Given the description of an element on the screen output the (x, y) to click on. 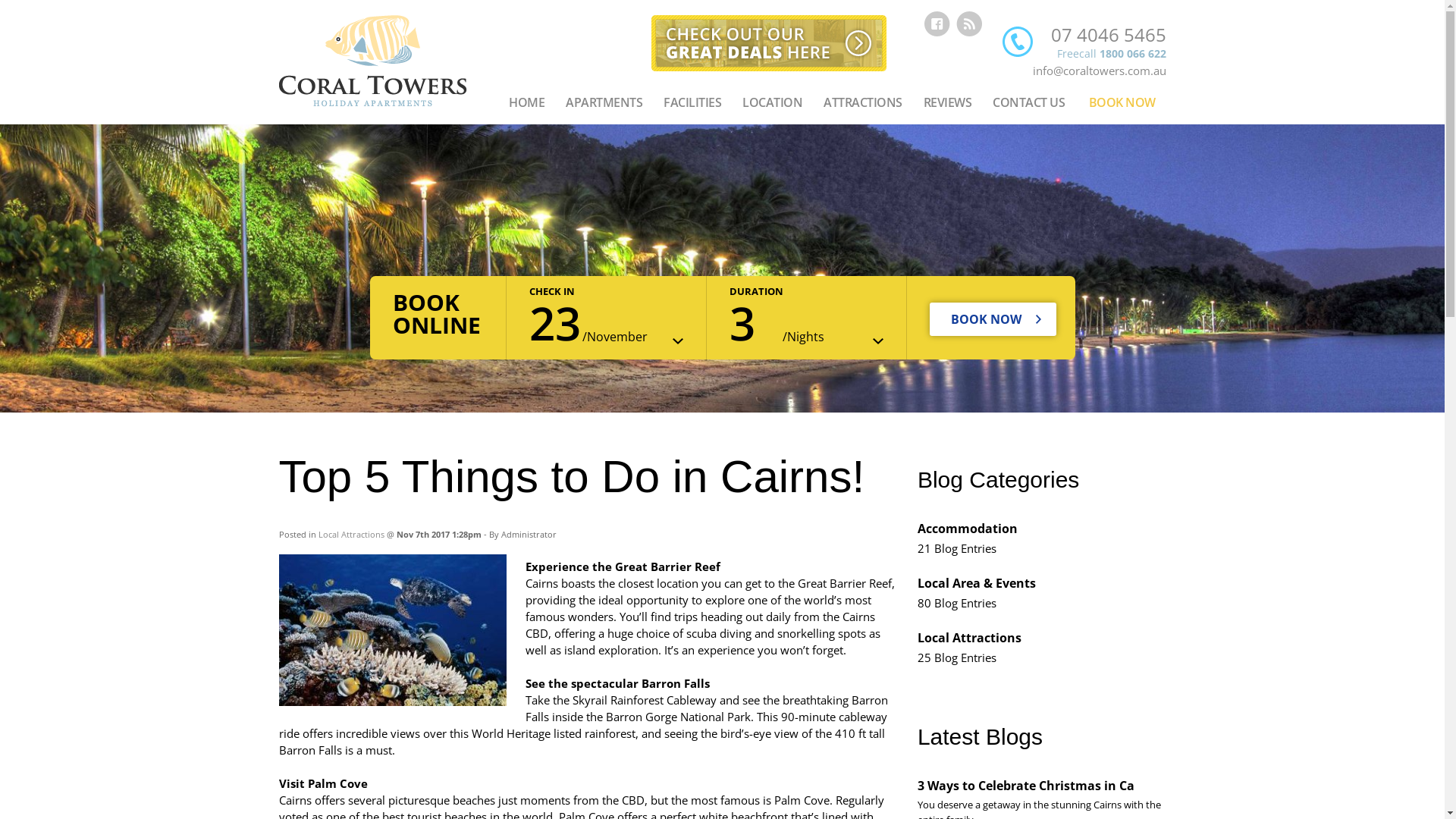
APARTMENTS Element type: text (603, 103)
Accommodation Element type: text (967, 528)
LOCATION Element type: text (772, 103)
ATTRACTIONS Element type: text (862, 103)
Great Barrier Reef 1 Element type: hover (392, 630)
Local Attractions Element type: text (351, 533)
Local Attractions Element type: text (969, 637)
REVIEWS Element type: text (947, 103)
Book Now Element type: text (992, 318)
CONTACT US Element type: text (1028, 103)
3 Ways to Celebrate Christmas in Ca Element type: text (1025, 785)
HOME Element type: text (526, 103)
BOOK NOW Element type: text (1121, 103)
1800 066 622 Element type: text (1132, 53)
FACILITIES Element type: text (692, 103)
info@coraltowers.com.au Element type: text (1099, 70)
Local Area & Events Element type: text (976, 582)
07 4046 5465 Element type: text (1108, 34)
